Given the description of an element on the screen output the (x, y) to click on. 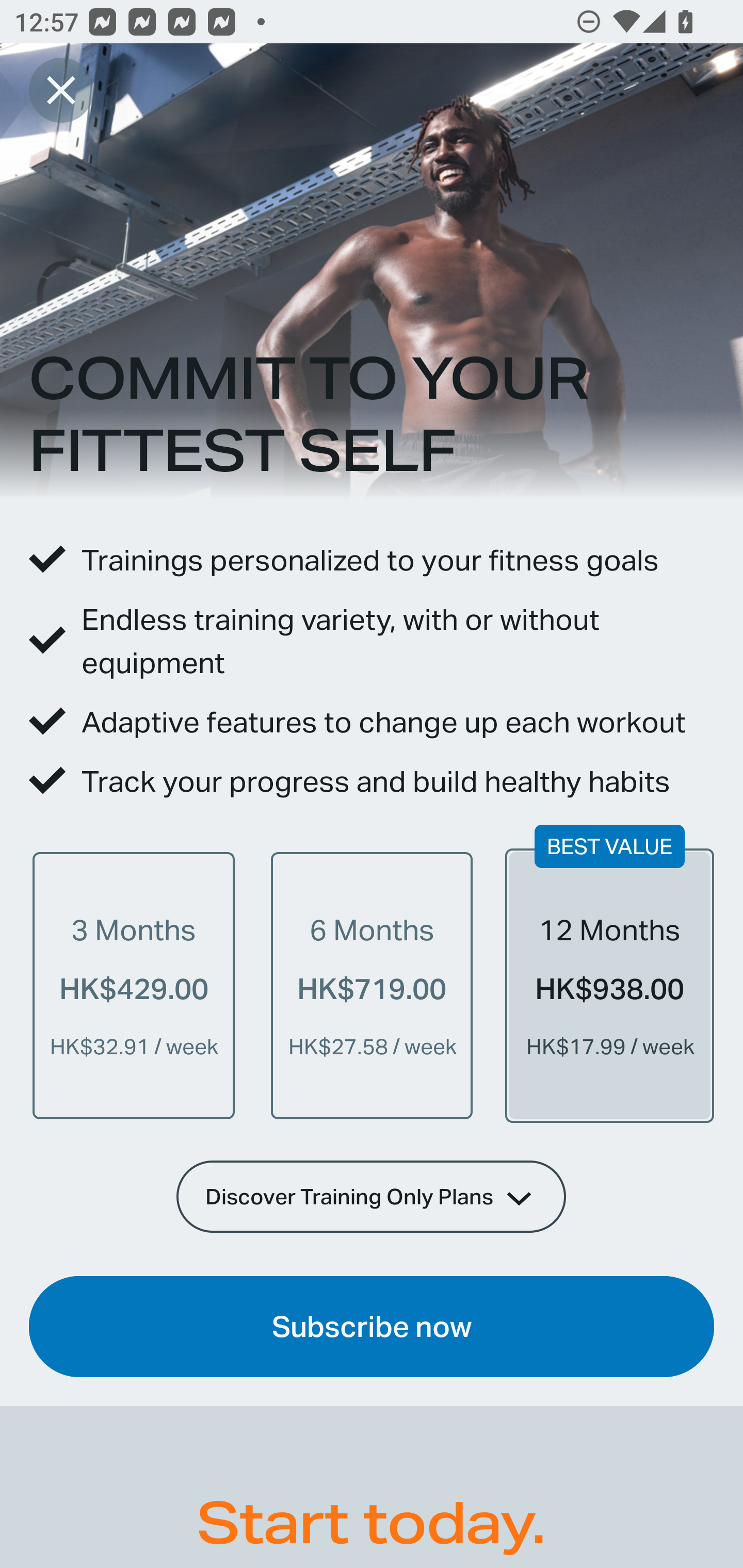
Close (60, 90)
3 Months HK$429.00 HK$32.91 / week (133, 985)
6 Months HK$719.00 HK$27.58 / week (371, 985)
12 Months HK$938.00 HK$17.99 / week (609, 985)
Discover Training Only Plans (371, 1196)
Subscribe now (371, 1326)
